Given the description of an element on the screen output the (x, y) to click on. 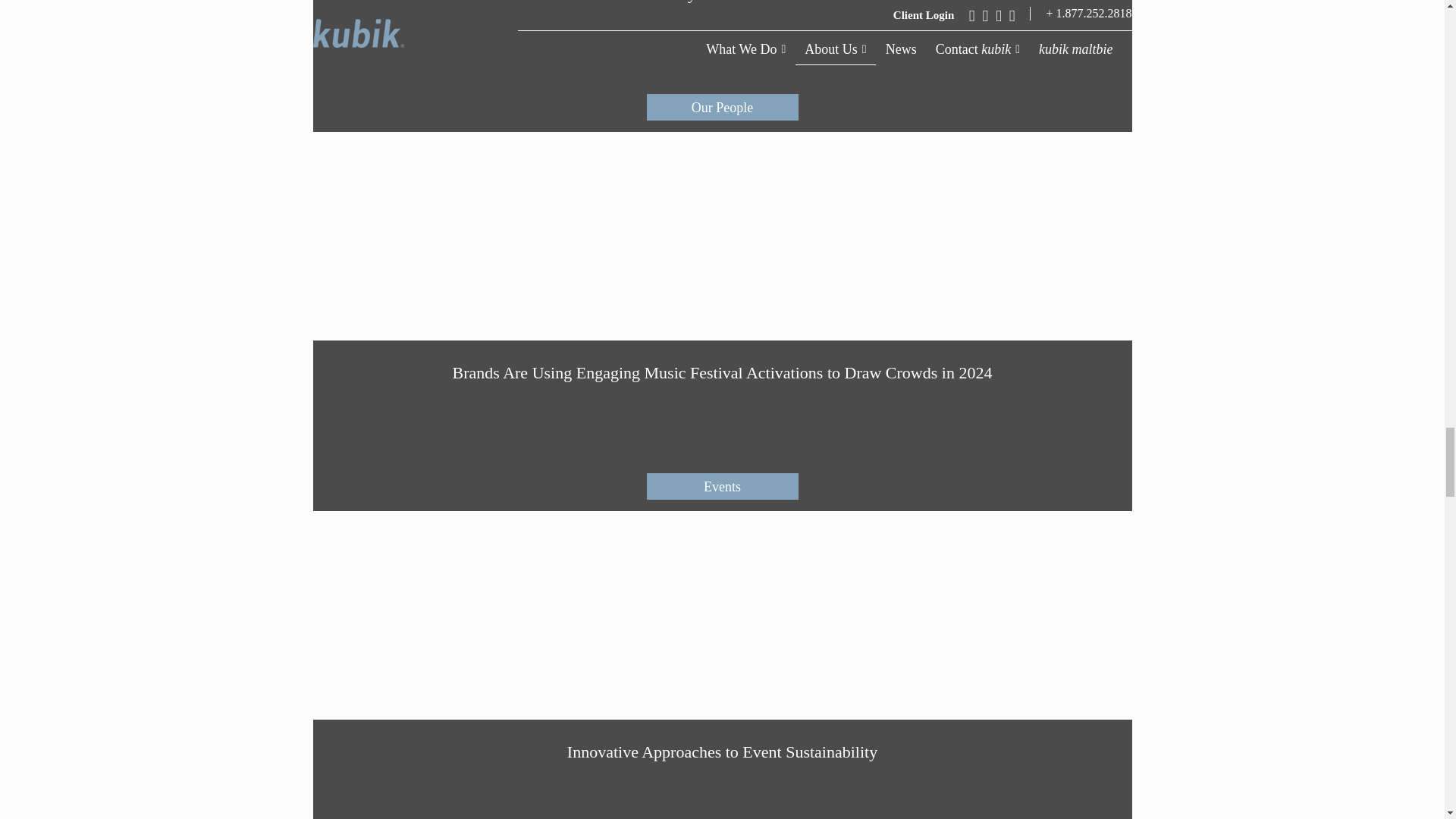
Nadra Mohy el Dine Joins Kubik (722, 65)
